Given the description of an element on the screen output the (x, y) to click on. 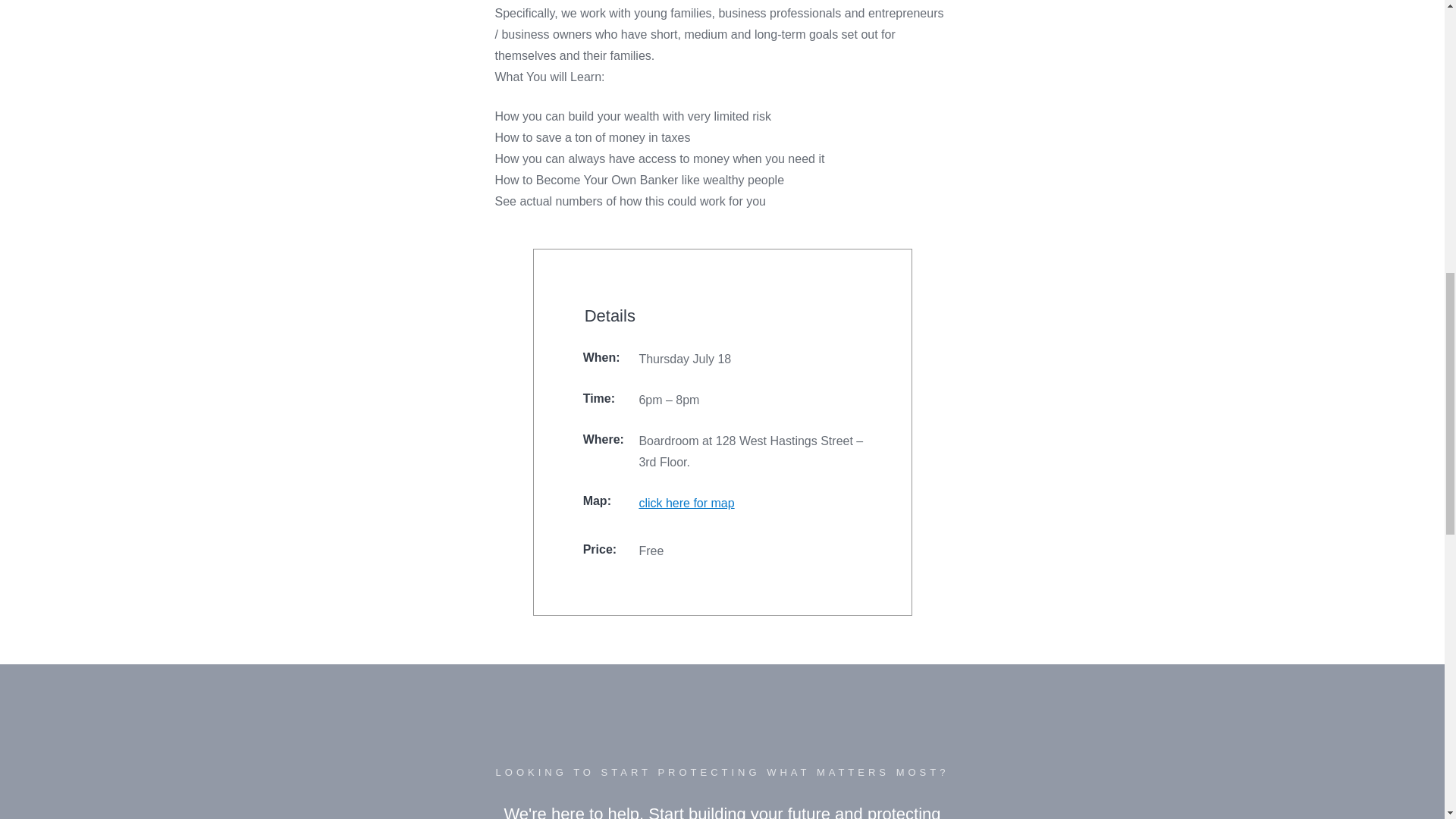
click here for map (750, 503)
